Given the description of an element on the screen output the (x, y) to click on. 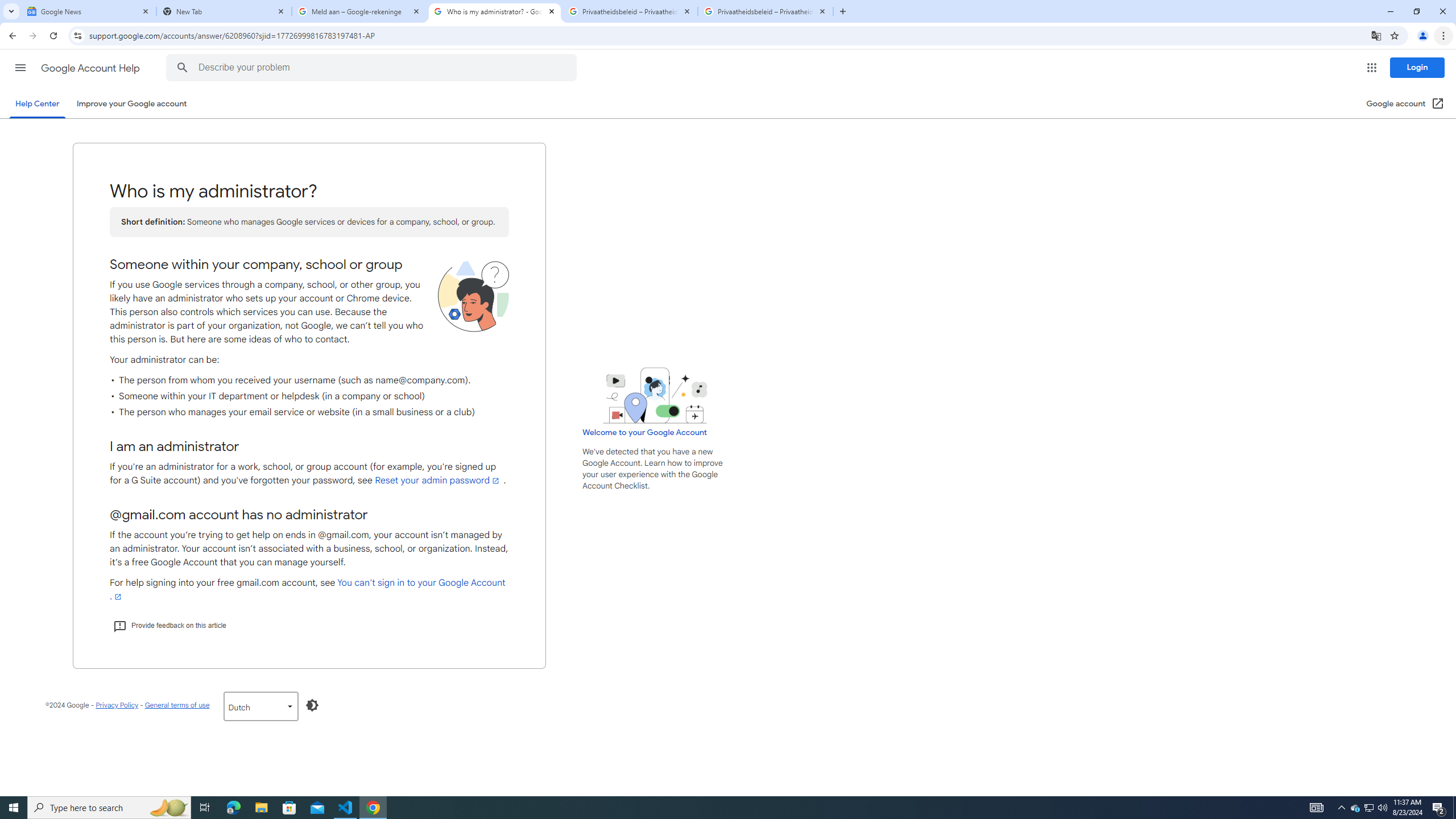
Enable dark mode (312, 705)
Google News (88, 11)
Describe your problem (373, 67)
